Given the description of an element on the screen output the (x, y) to click on. 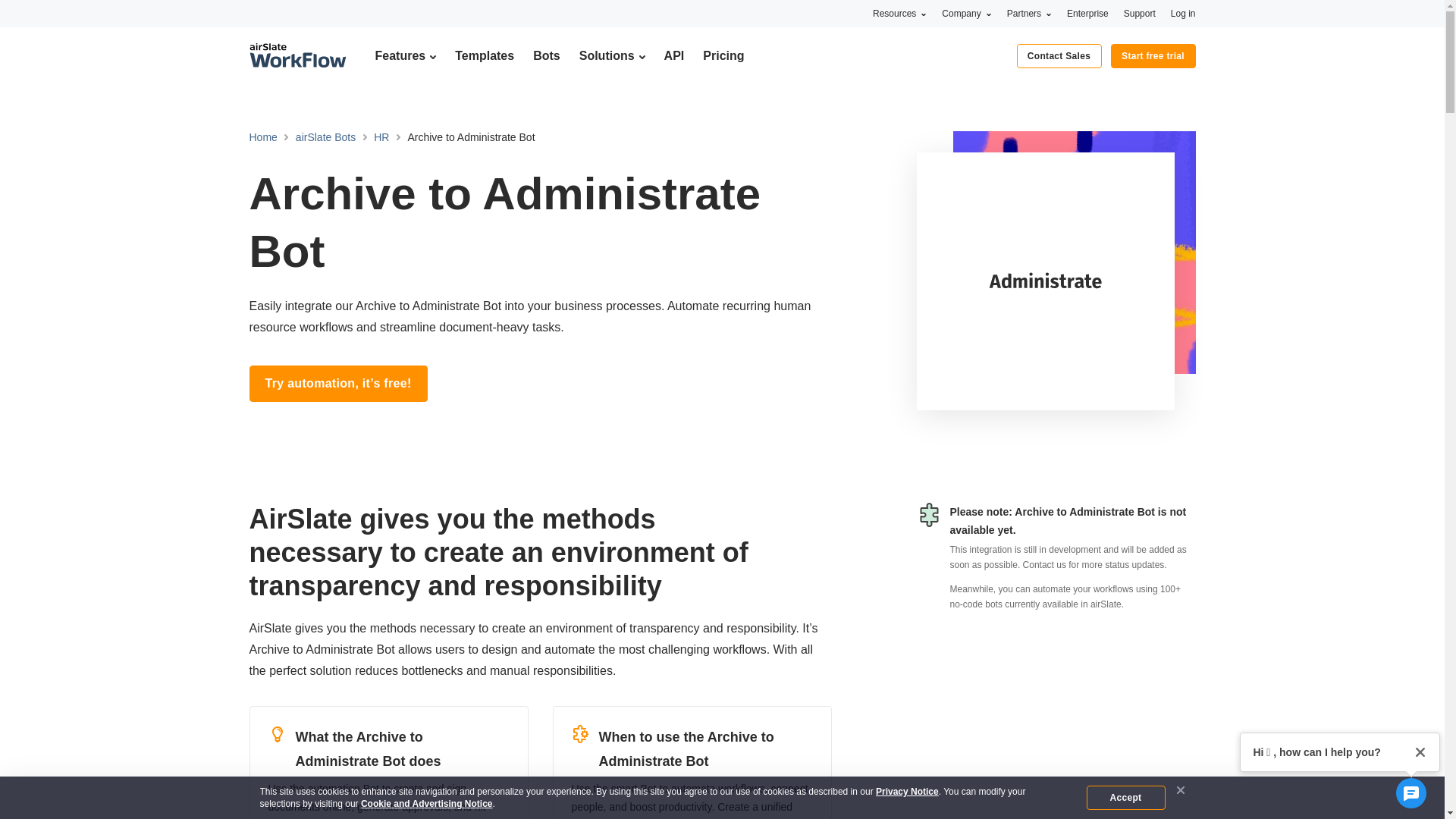
Templates (483, 55)
Support (1140, 13)
Partners (1029, 13)
Resources (899, 13)
Log in (1182, 13)
Enterprise (1087, 13)
Company (966, 13)
